Given the description of an element on the screen output the (x, y) to click on. 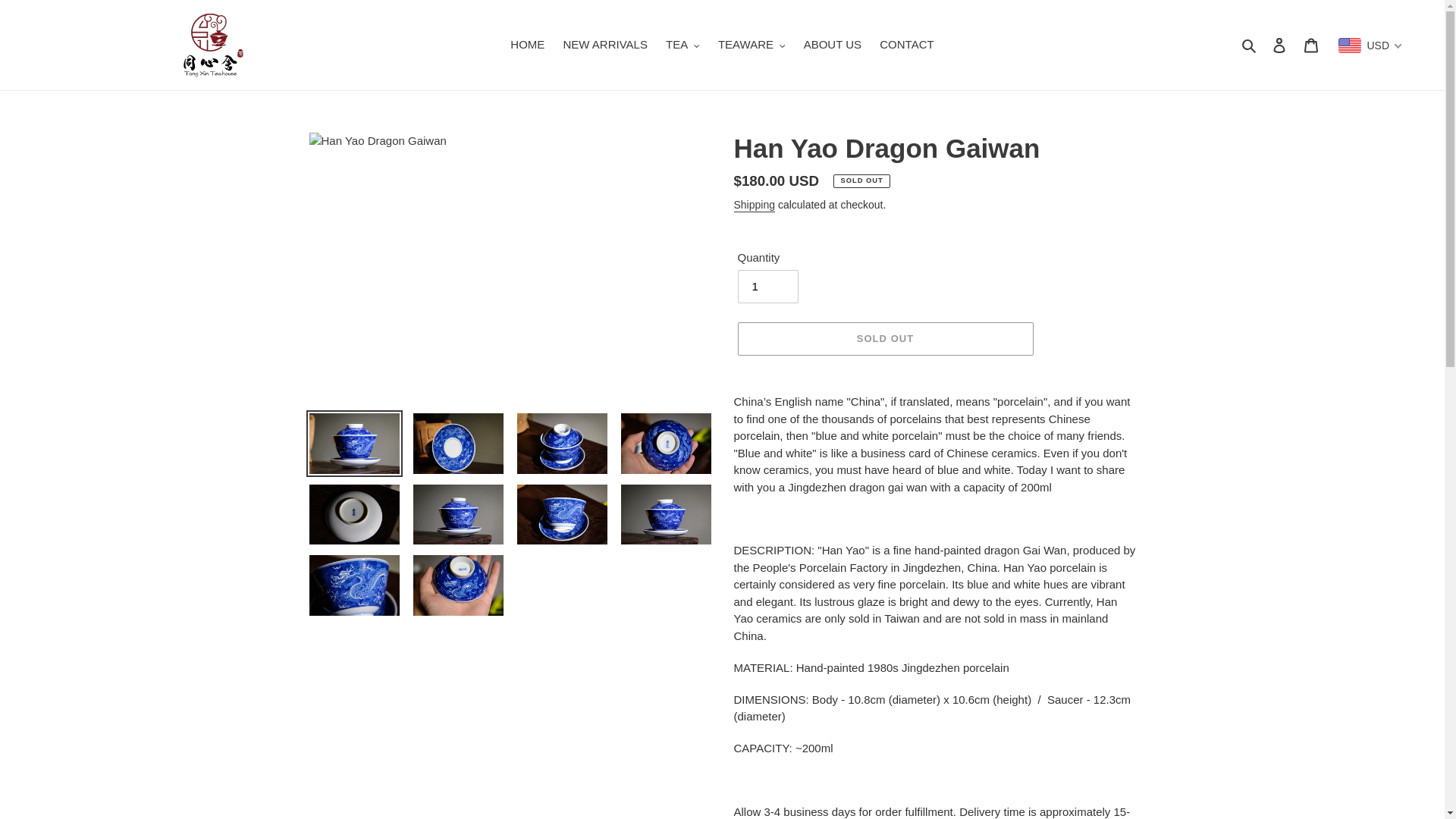
HOME (526, 45)
TEA (682, 45)
TEAWARE (751, 45)
1 (766, 286)
NEW ARRIVALS (603, 45)
